Given the description of an element on the screen output the (x, y) to click on. 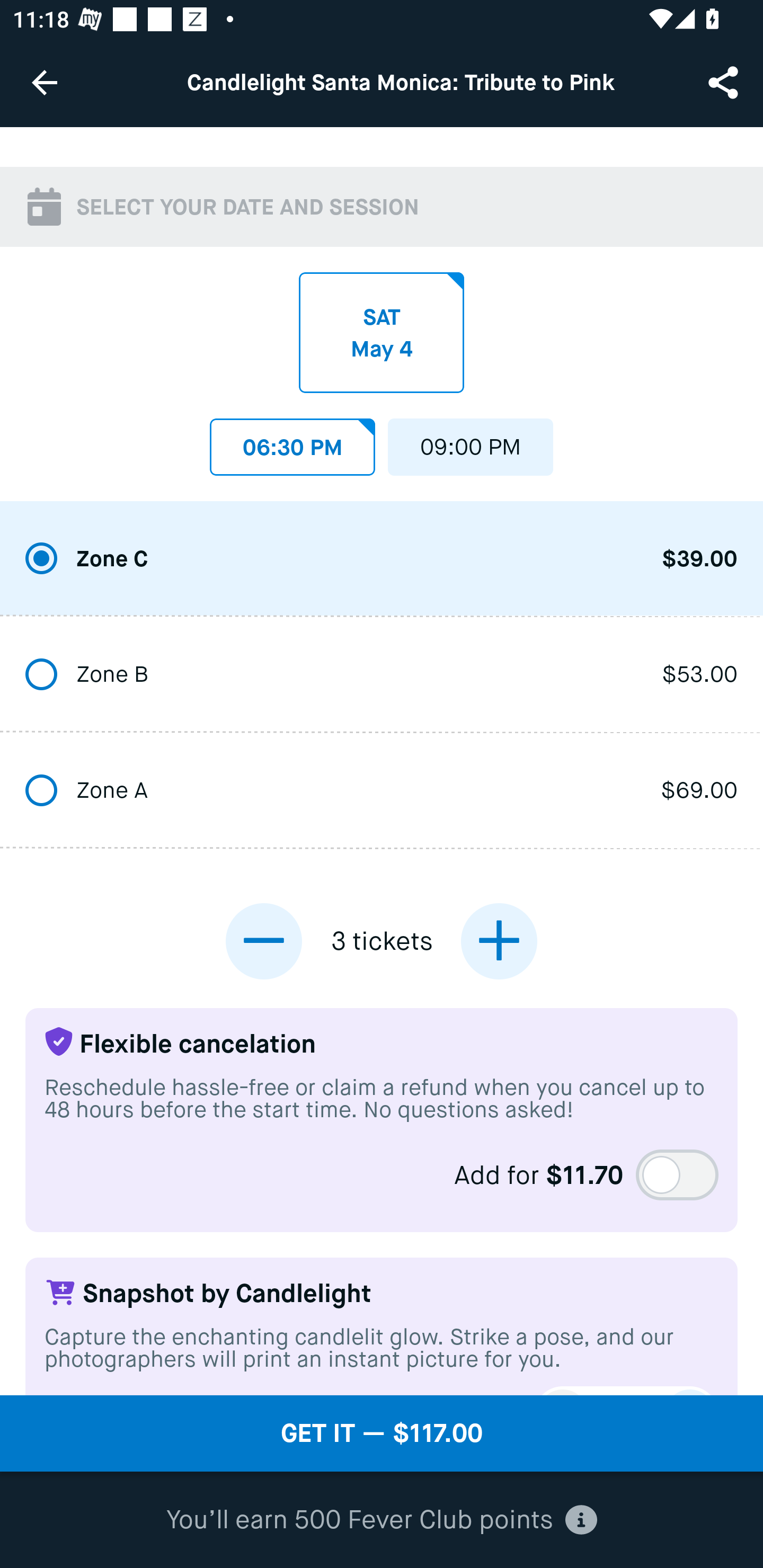
Navigate up (44, 82)
Share (724, 81)
SAT
May 4 (381, 332)
06:30 PM (292, 442)
09:00 PM (470, 442)
Zone C $39.00 (381, 559)
Zone B $53.00 (381, 675)
Zone A $69.00 (381, 791)
decrease (263, 941)
increase (498, 941)
GET IT — $117.00 (381, 1433)
You’ll earn 500 Fever Club points (381, 1519)
